Given the description of an element on the screen output the (x, y) to click on. 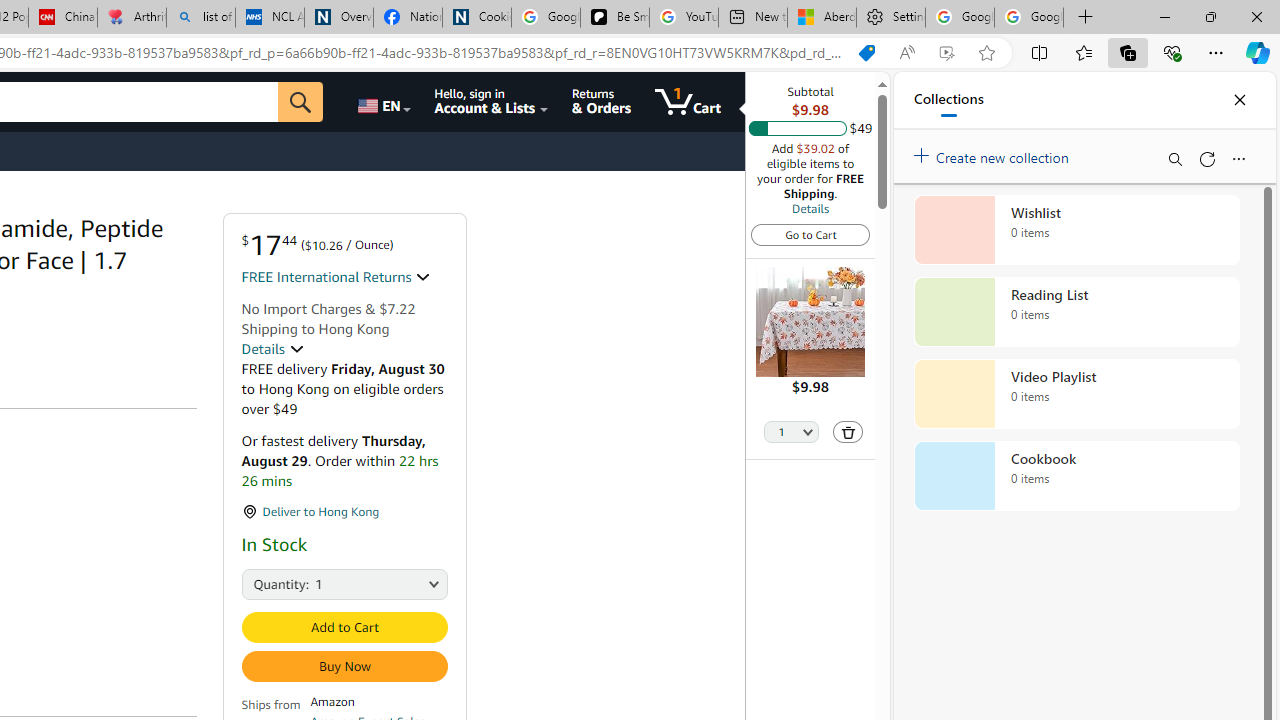
Cookies (476, 17)
Aberdeen, Hong Kong SAR hourly forecast | Microsoft Weather (822, 17)
